Given the description of an element on the screen output the (x, y) to click on. 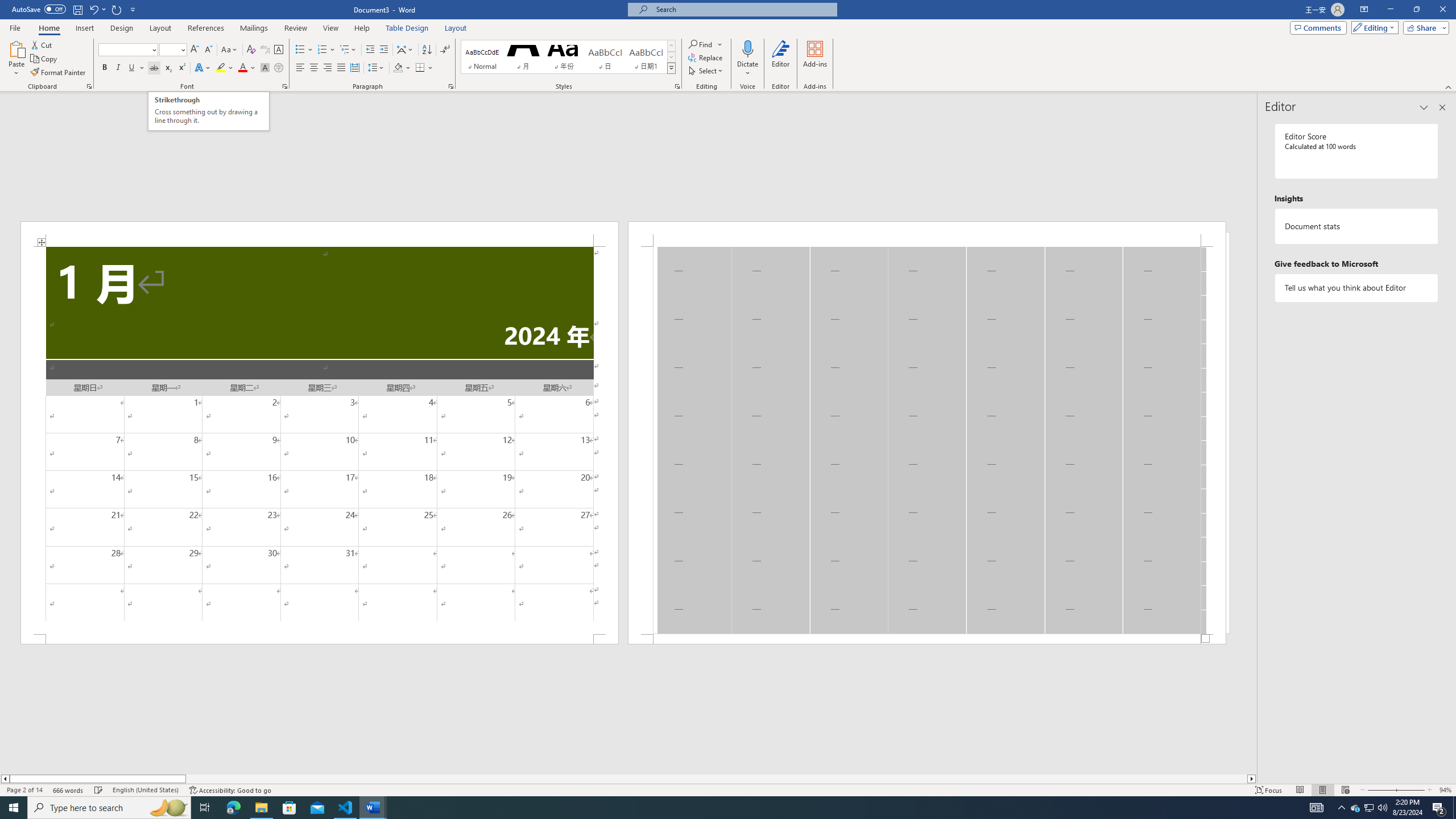
Page Number Page 2 of 14 (24, 790)
